Given the description of an element on the screen output the (x, y) to click on. 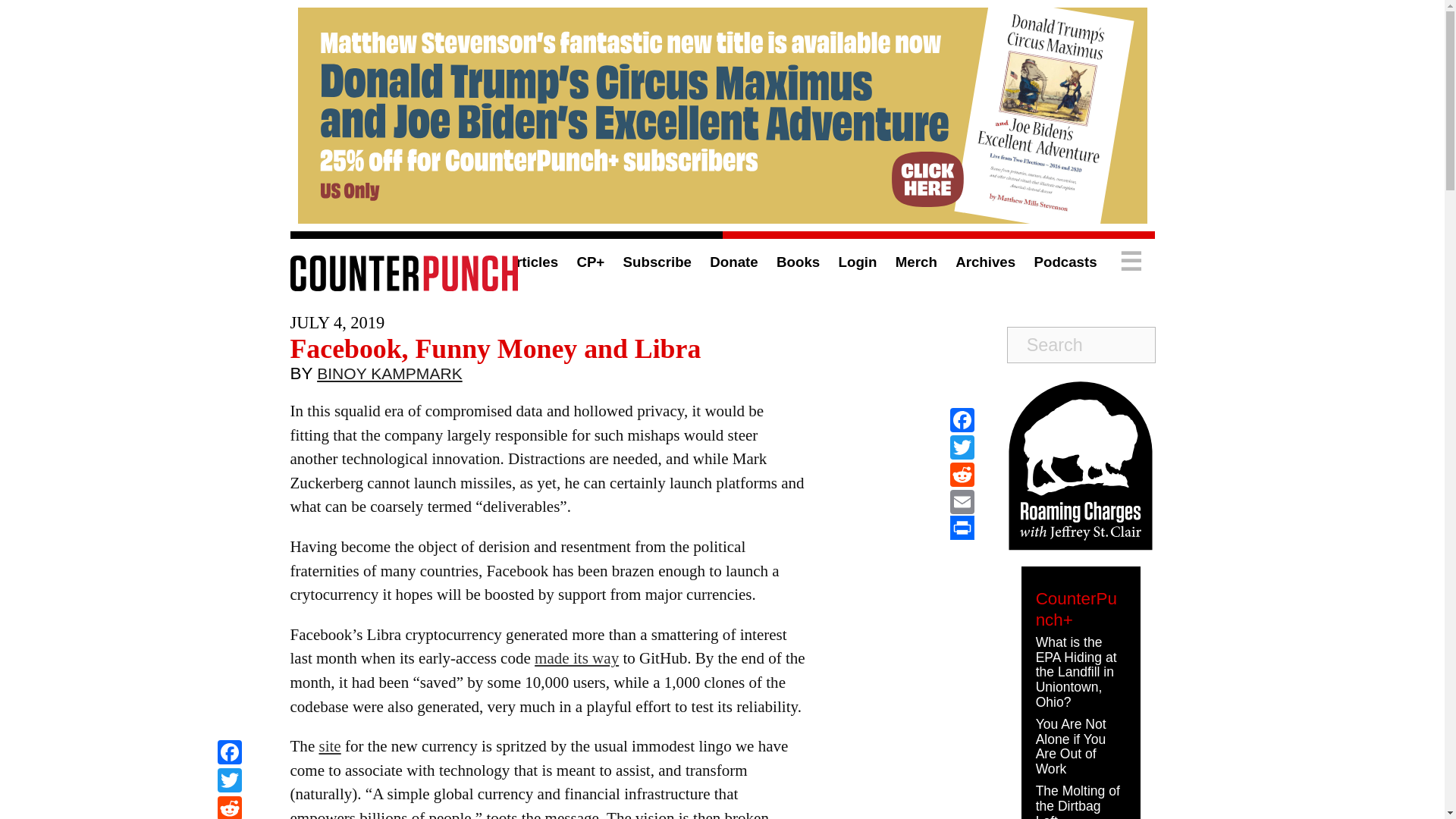
Books (797, 261)
Facebook (229, 754)
Facebook (962, 420)
Login (857, 261)
site (329, 746)
Merch (916, 261)
Twitter (229, 782)
Twitter (229, 782)
Print This Post (962, 527)
Twitter (962, 447)
Facebook, Funny Money and Libra (494, 348)
Facebook (229, 754)
Archives (984, 261)
BINOY KAMPMARK (390, 376)
Reddit (229, 807)
